Given the description of an element on the screen output the (x, y) to click on. 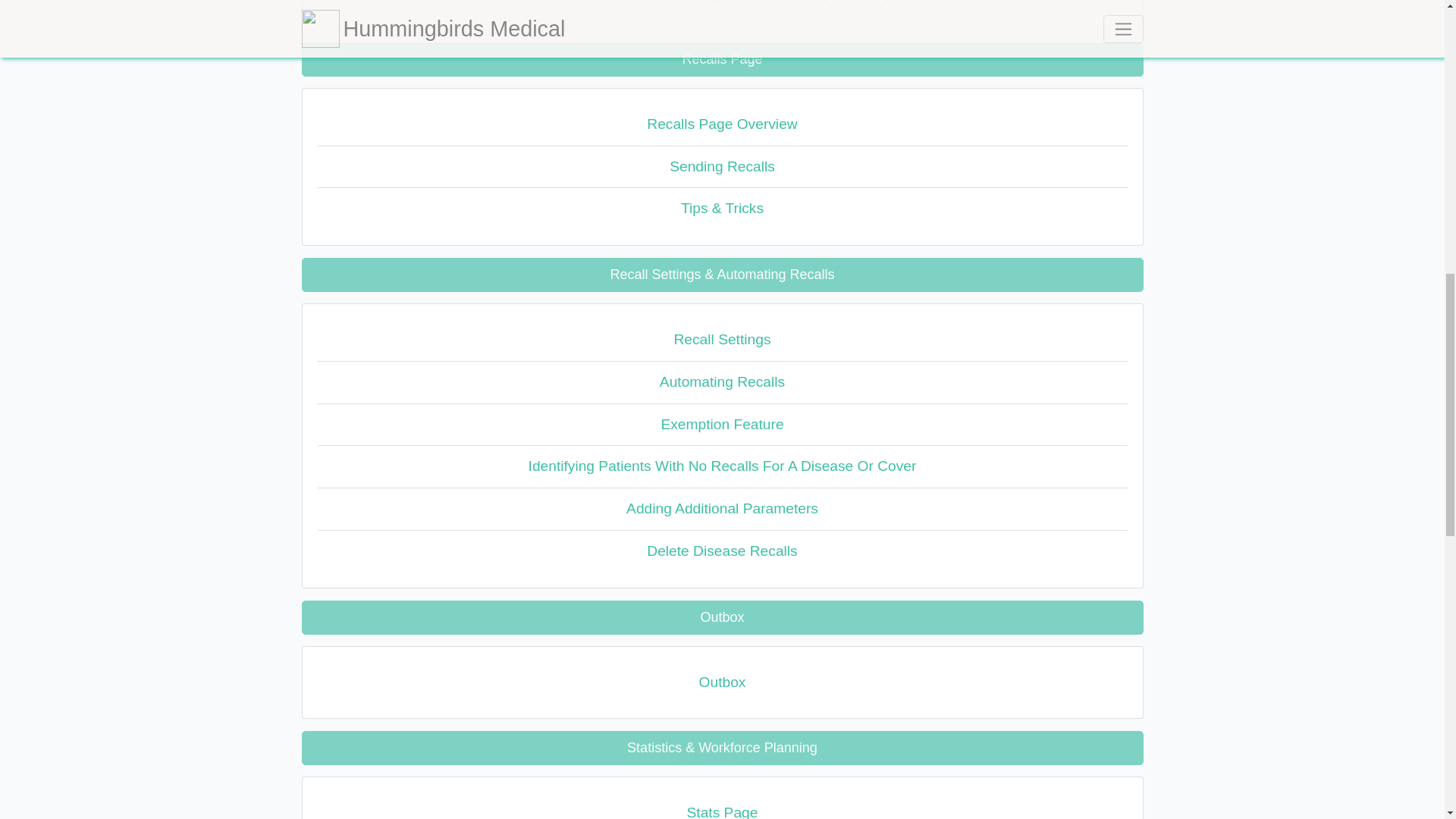
Exemption Feature (721, 425)
Recall Settings (721, 340)
Recalls Page (721, 59)
Delete Disease Recalls (721, 551)
Automating Recalls (721, 382)
Identifying Patients With No Recalls For A Disease Or Cover (721, 466)
Outbox (721, 681)
Outbox (721, 617)
Adding Additional Parameters (721, 509)
Sending Recalls (721, 167)
Recalls Page Overview (721, 125)
Stats Page (721, 805)
